Given the description of an element on the screen output the (x, y) to click on. 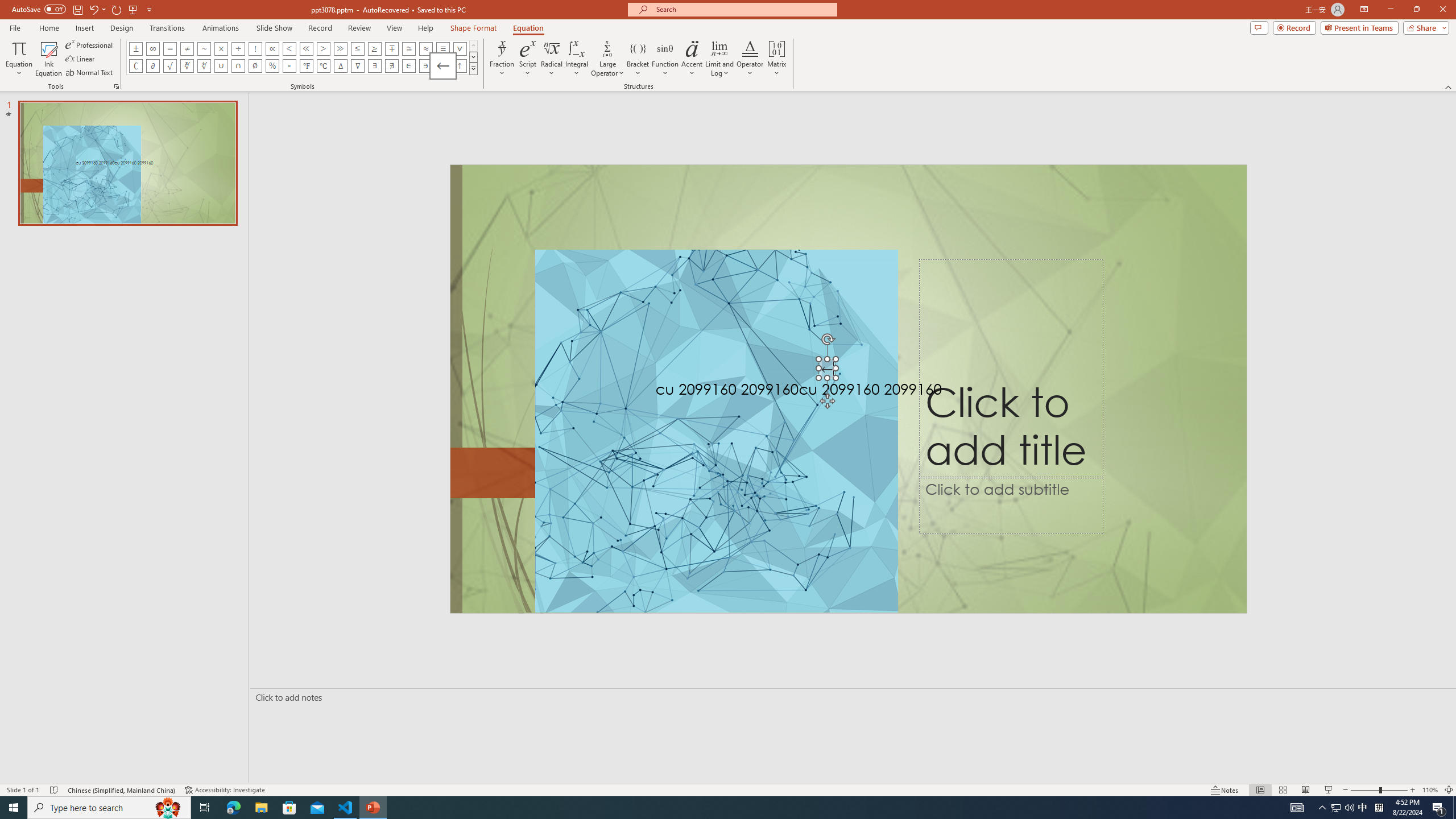
Equation Symbol There Exists (374, 65)
Accent (691, 58)
Equation Symbol Percentage (272, 65)
Equation Symbol Up Arrow (459, 65)
Equation Symbol Cube Root (187, 65)
Ink Equation (48, 58)
Equation Symbol Degrees Celsius (322, 65)
Equation Symbol Contains as Member (425, 65)
